Given the description of an element on the screen output the (x, y) to click on. 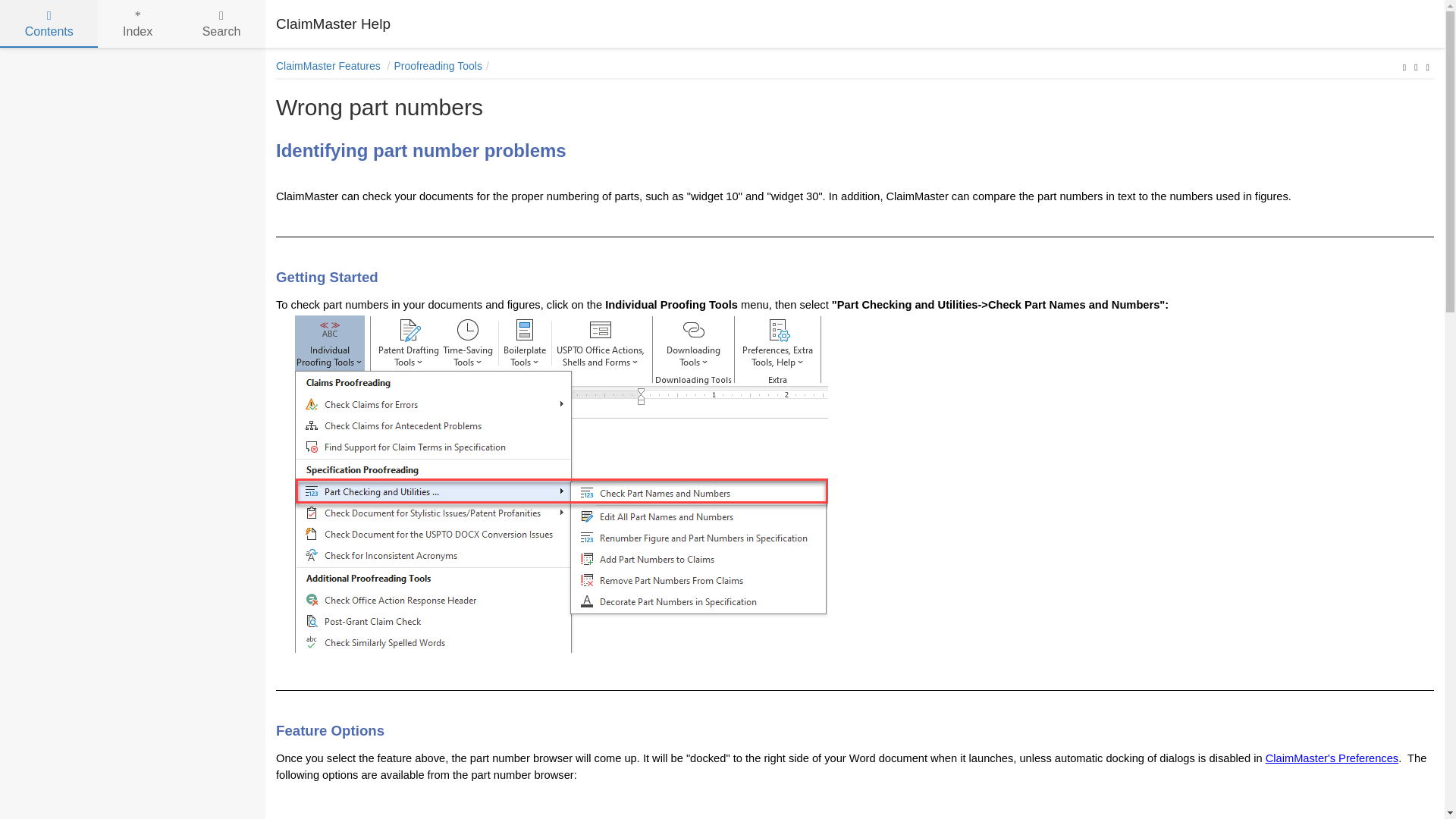
ClaimMaster Features (330, 65)
Proofreading Tools (1403, 66)
Lack of specification support (1415, 66)
Search (220, 23)
Index (137, 23)
ClaimMaster's Preferences (1331, 758)
Proofreading Tools (437, 65)
Contents (48, 23)
